Given the description of an element on the screen output the (x, y) to click on. 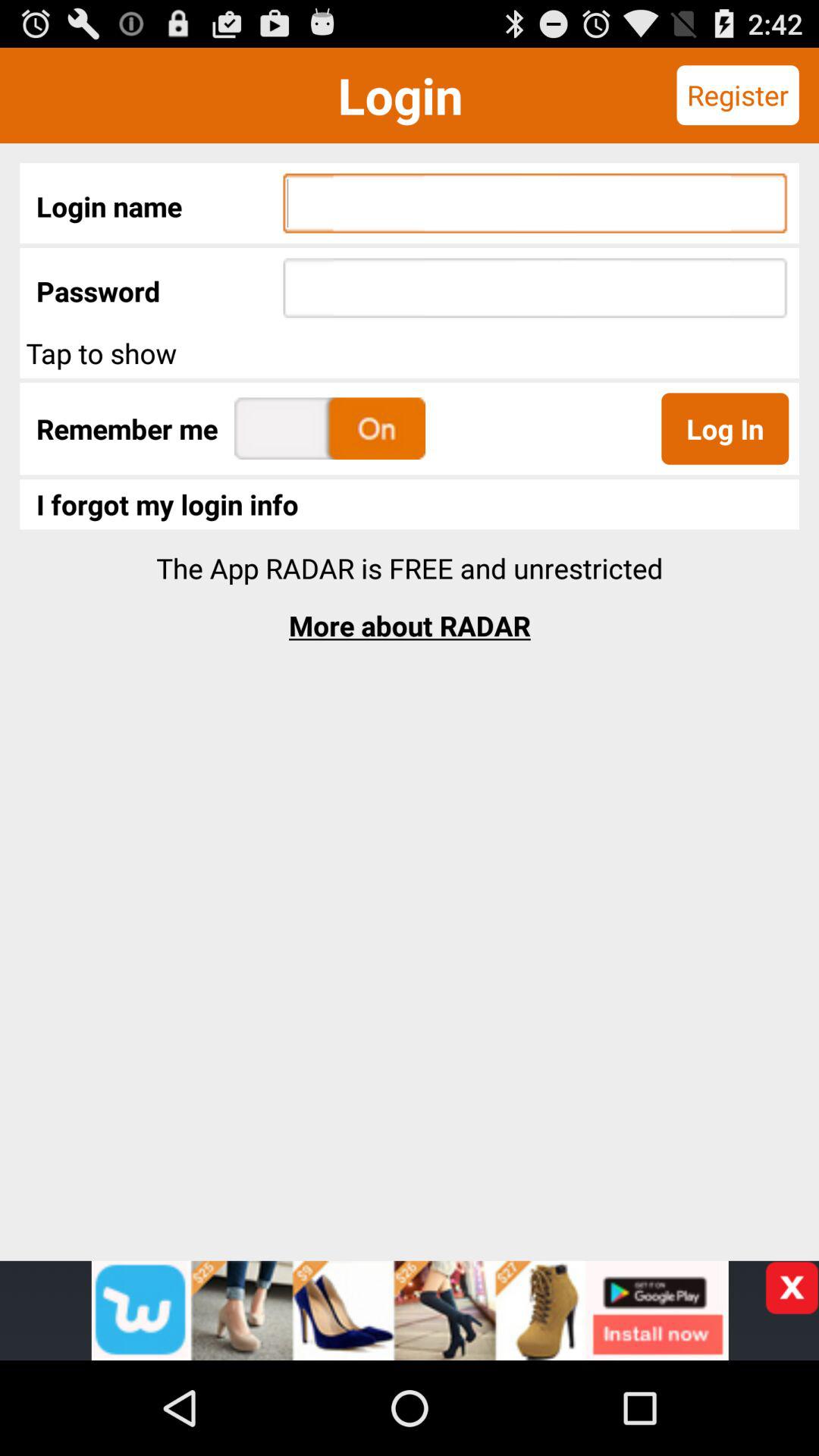
click on on option next to remember me (329, 428)
click on the text field next to password (535, 288)
select the first text field on the web page (535, 202)
click the button tap to show on the web page (409, 353)
